Given the description of an element on the screen output the (x, y) to click on. 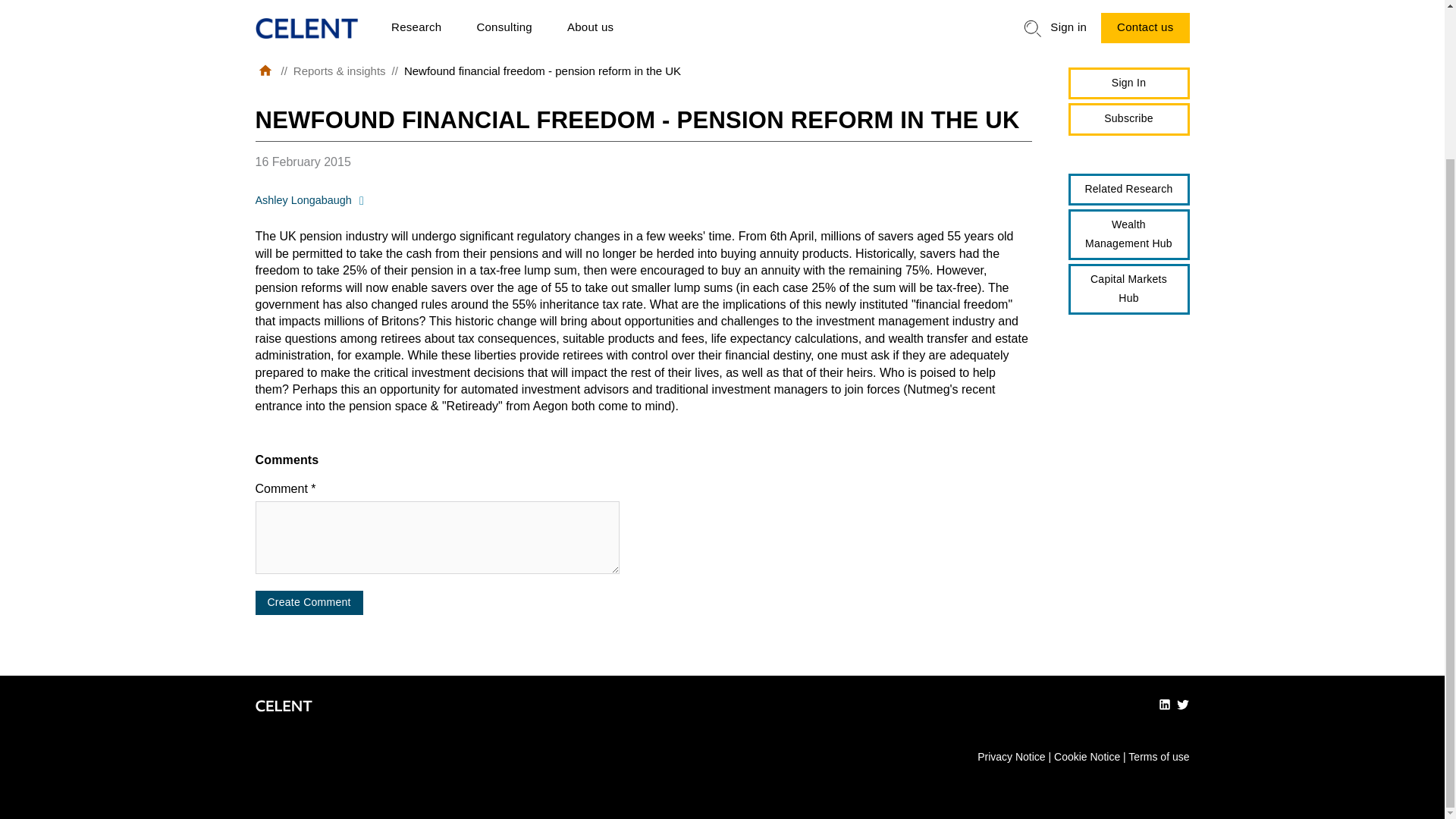
Subscribe (1128, 119)
Sign In (1128, 83)
Create Comment (308, 602)
